Given the description of an element on the screen output the (x, y) to click on. 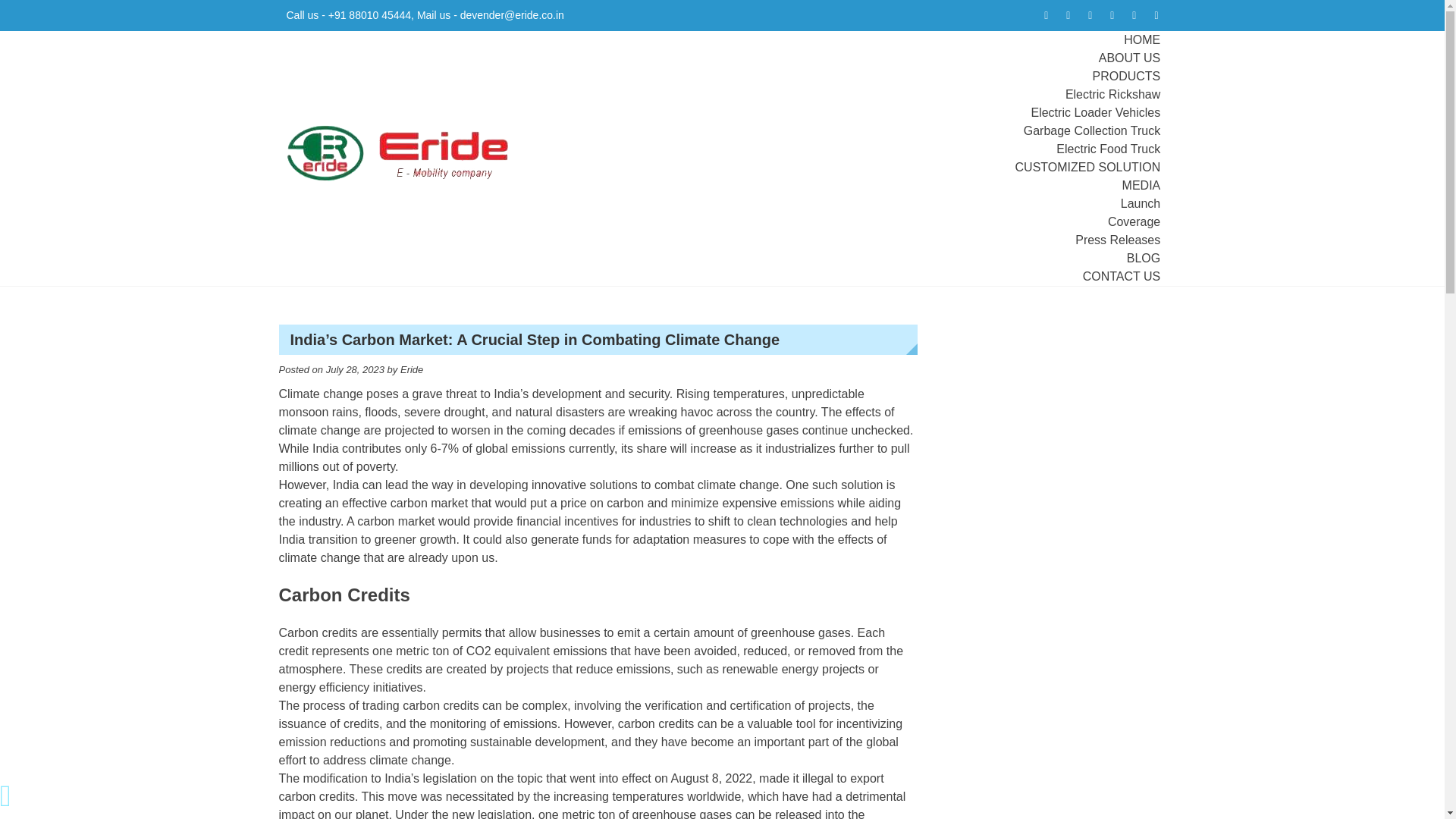
Garbage Collection Truck (1091, 130)
Launch (1140, 203)
Press Releases (1117, 239)
July 28, 2023 (355, 369)
Coverage (1134, 221)
MEDIA (1141, 185)
BLOG (1143, 257)
Electric Food Truck (1108, 148)
PRODUCTS (1126, 75)
CONTACT US (1121, 276)
